Given the description of an element on the screen output the (x, y) to click on. 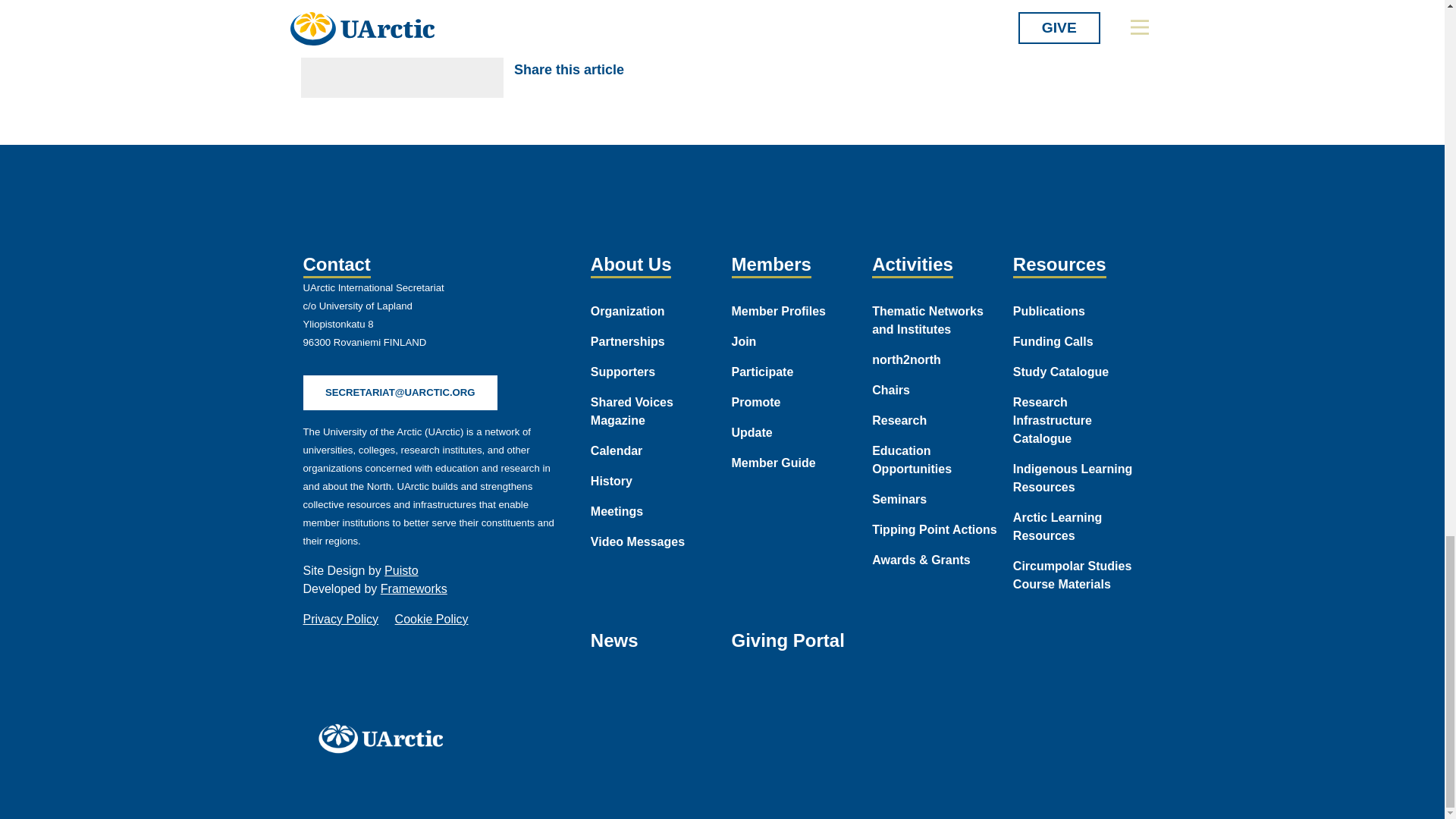
Privacy Policy (340, 618)
UArctic 2021 (385, 738)
Share on Twitter (686, 70)
Cookie Policy (431, 618)
Share on Facebook (650, 70)
